Given the description of an element on the screen output the (x, y) to click on. 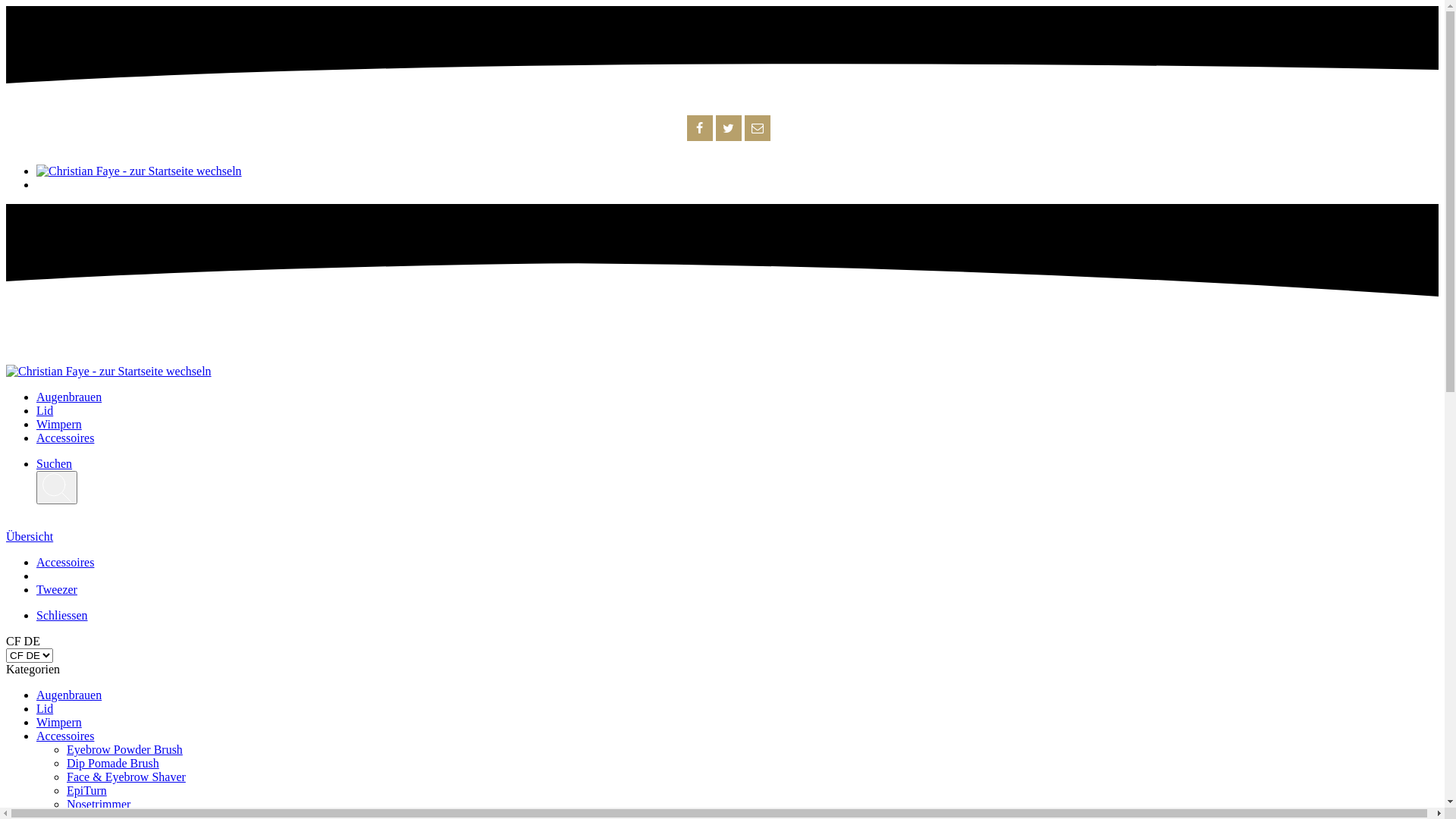
Christian Faye - zur Startseite wechseln Element type: hover (138, 170)
Wimpern Element type: text (58, 721)
Accessoires Element type: text (65, 735)
EpiTurn Element type: text (86, 790)
Schliessen Element type: text (61, 614)
Lid Element type: text (44, 410)
Nosetrimmer Element type: text (98, 803)
Suchen Element type: text (54, 463)
Augenbrauen Element type: text (68, 396)
Accessoires Element type: text (65, 561)
Face & Eyebrow Shaver Element type: text (125, 776)
Facebook Element type: hover (699, 128)
Wimpern Element type: text (58, 423)
Accessoires Element type: text (65, 437)
Twitter Element type: hover (727, 128)
Christian Faye - zur Startseite wechseln Element type: hover (108, 370)
Dip Pomade Brush Element type: text (112, 762)
Lid Element type: text (44, 708)
Augenbrauen Element type: text (68, 694)
Eyebrow Powder Brush Element type: text (124, 749)
E-Mail Element type: hover (756, 128)
Tweezer Element type: text (56, 589)
